Given the description of an element on the screen output the (x, y) to click on. 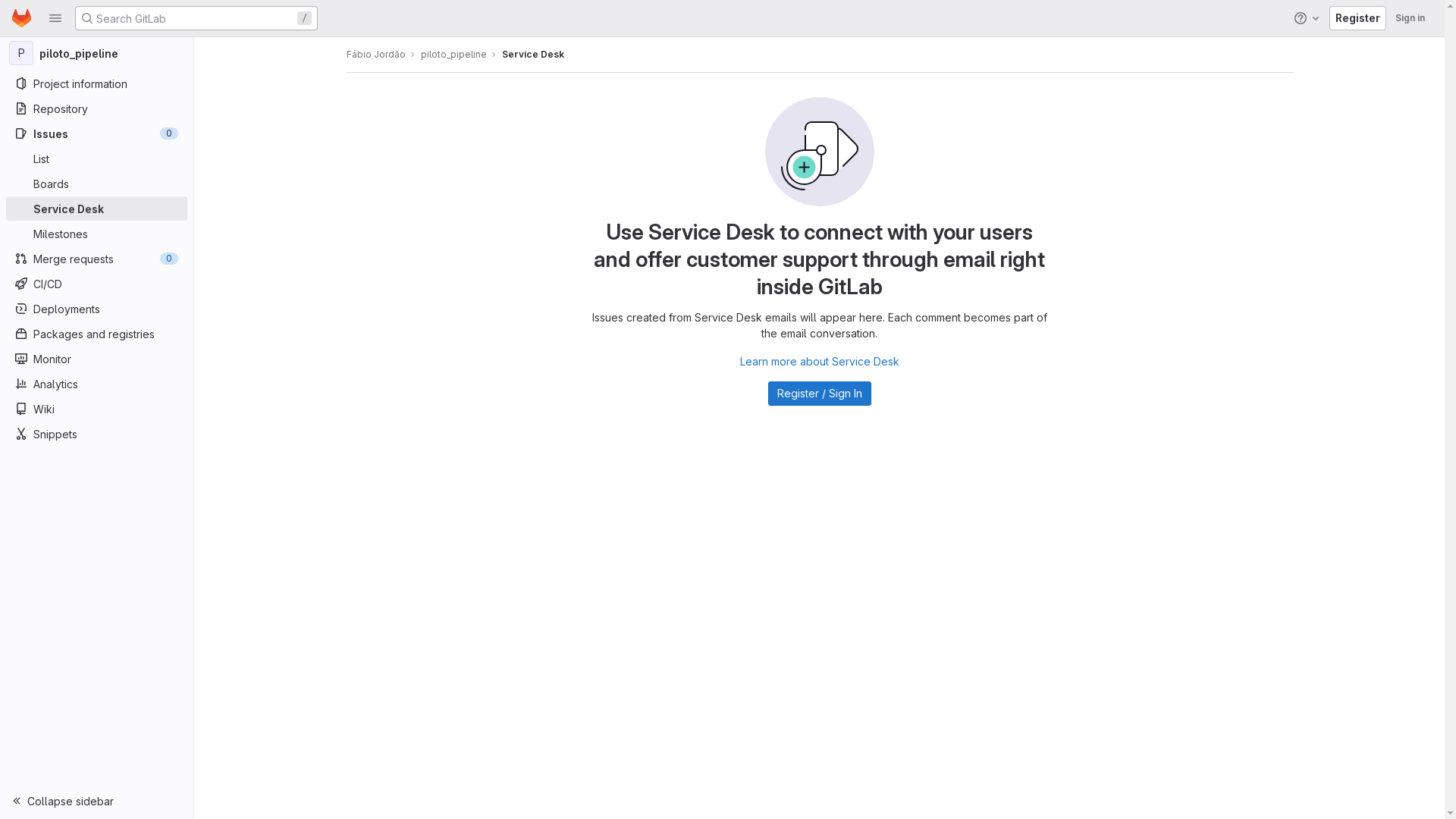
Learn more about Service Desk Element type: text (819, 360)
P
piloto_pipeline Element type: text (97, 52)
Monitor Element type: text (96, 358)
Service Desk Element type: text (96, 208)
Packages and registries Element type: text (96, 333)
Wiki Element type: text (96, 408)
Service Desk Element type: text (533, 54)
Register / Sign In Element type: text (818, 393)
Milestones Element type: text (96, 233)
Boards Element type: text (96, 183)
Homepage Element type: hover (21, 18)
List Element type: text (96, 158)
Help Element type: text (1307, 18)
Deployments Element type: text (96, 308)
Snippets Element type: text (96, 433)
CI/CD Element type: text (96, 283)
Repository Element type: text (96, 108)
Skip to content Element type: text (11, 18)
Sign in Element type: text (1409, 18)
Issues
0 Element type: text (96, 133)
Register Element type: text (1357, 18)
Analytics Element type: text (96, 383)
Project information Element type: text (96, 83)
piloto_pipeline Element type: text (453, 54)
Merge requests
0 Element type: text (96, 258)
